Given the description of an element on the screen output the (x, y) to click on. 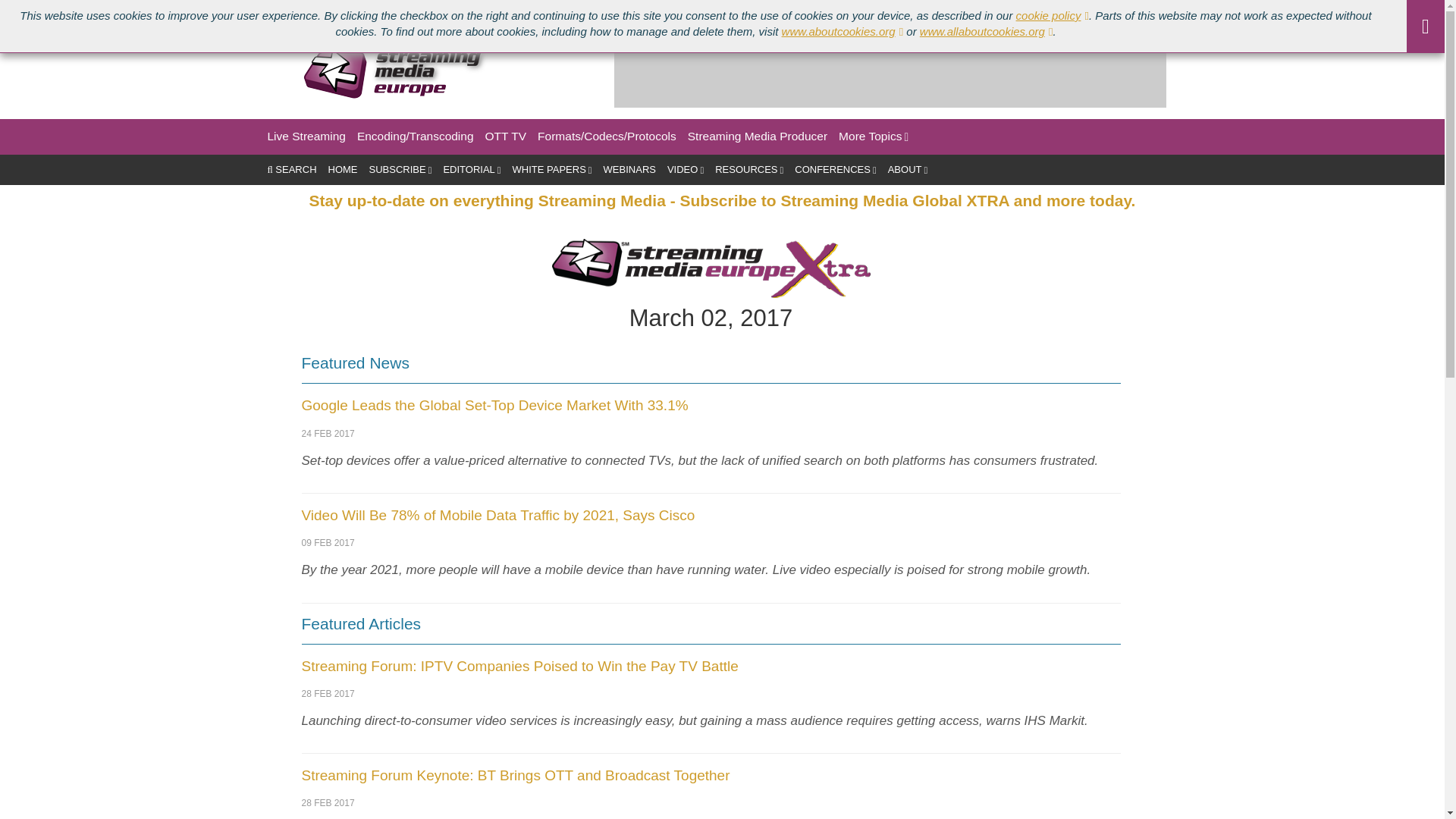
 SEARCH (290, 169)
U.S. SITE (29, 10)
STREAMING MEDIA NYC (394, 10)
Streaming Media Connect 2024 (232, 10)
EDITORIAL (471, 169)
More Topics (873, 136)
www.aboutcookies.org (842, 31)
SUBSCRIBE (400, 169)
Streaming Media Producer (757, 136)
HOME (343, 169)
